Given the description of an element on the screen output the (x, y) to click on. 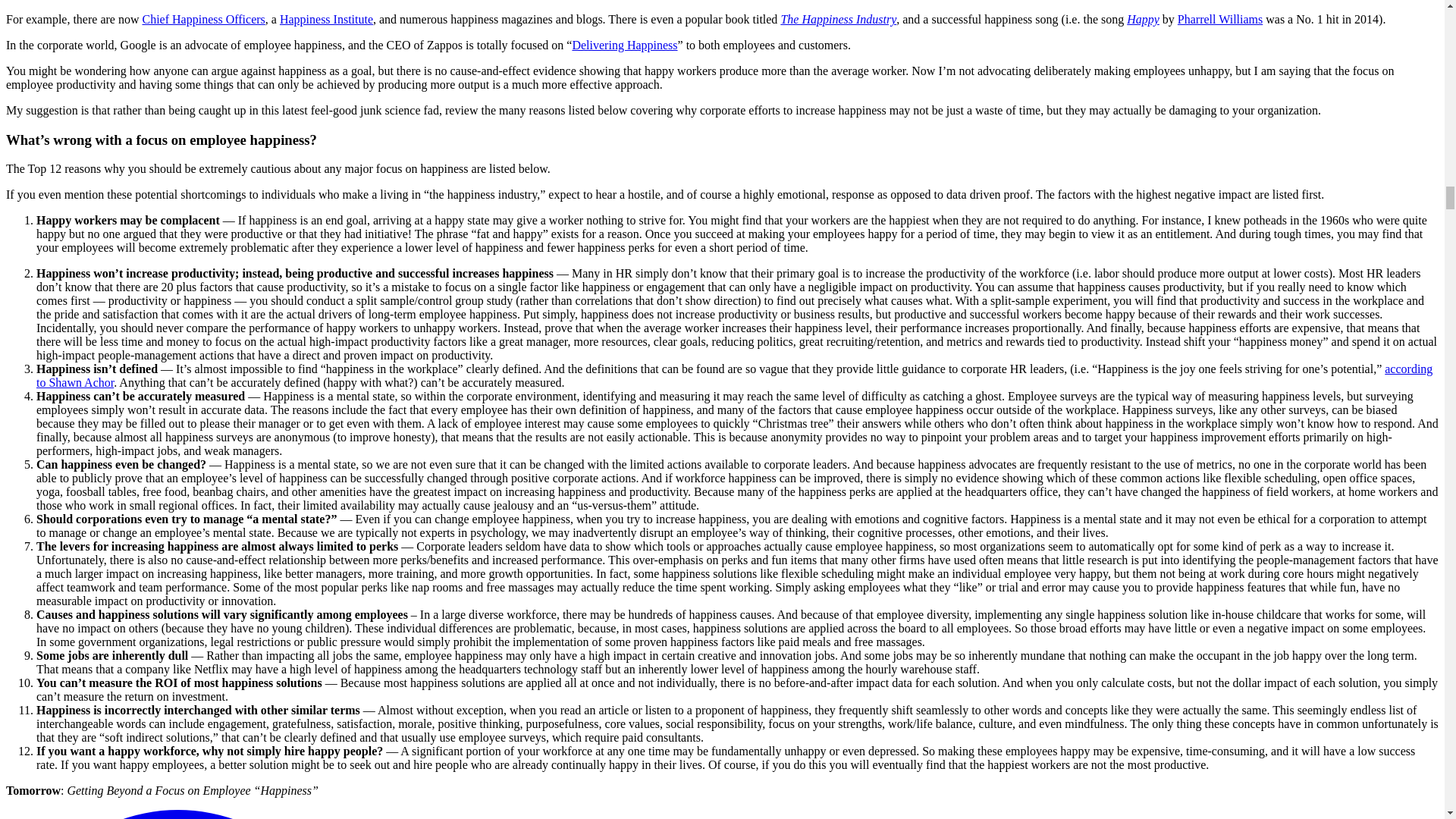
Delivering Happiness (624, 44)
Happy (1142, 19)
Pharrell Williams (1219, 19)
Happiness Institute (325, 19)
Chief Happiness Officers (202, 19)
The Happiness Industry (838, 19)
